Given the description of an element on the screen output the (x, y) to click on. 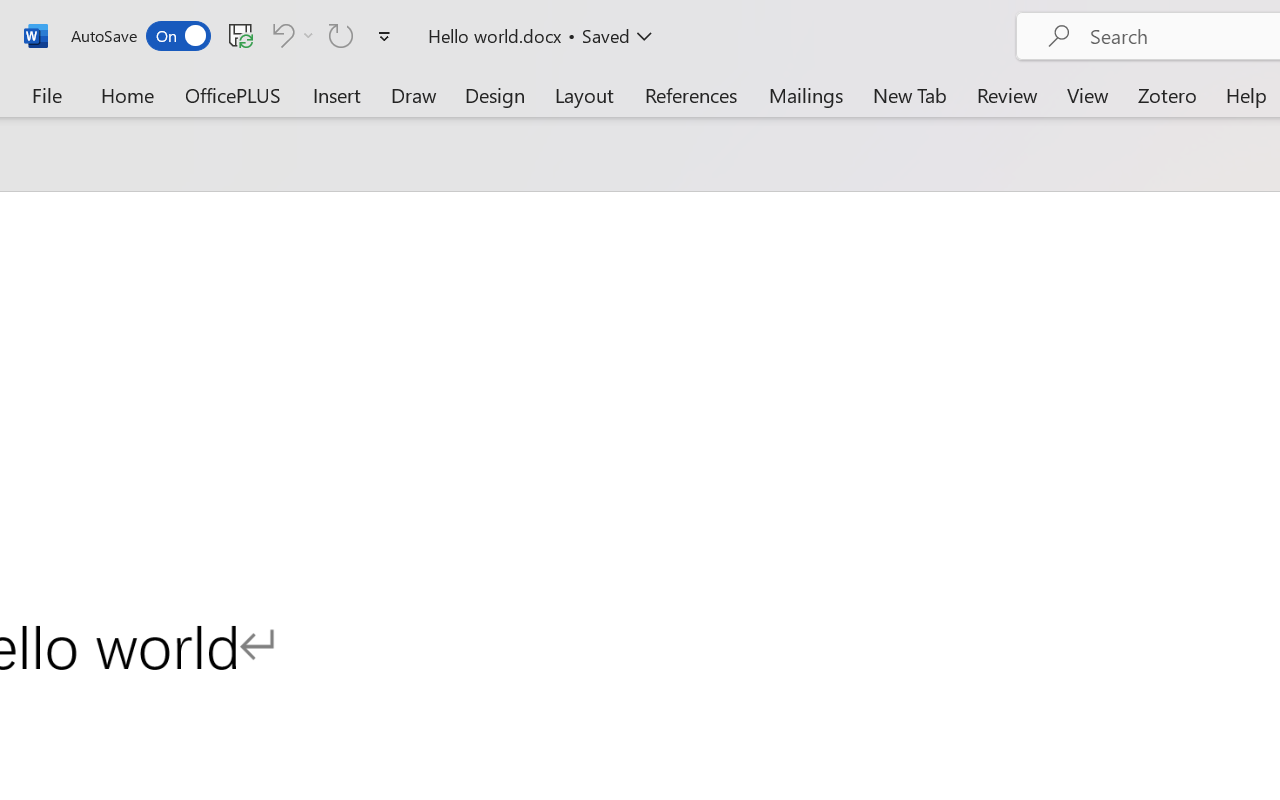
Can't Undo (290, 35)
AutoSave (140, 35)
Insert (337, 94)
Home (127, 94)
More Options (308, 35)
Design (495, 94)
Layout (584, 94)
Quick Access Toolbar (233, 36)
OfficePLUS (233, 94)
File Tab (46, 94)
View (1087, 94)
Review (1007, 94)
Customize Quick Access Toolbar (384, 35)
Zotero (1166, 94)
